Given the description of an element on the screen output the (x, y) to click on. 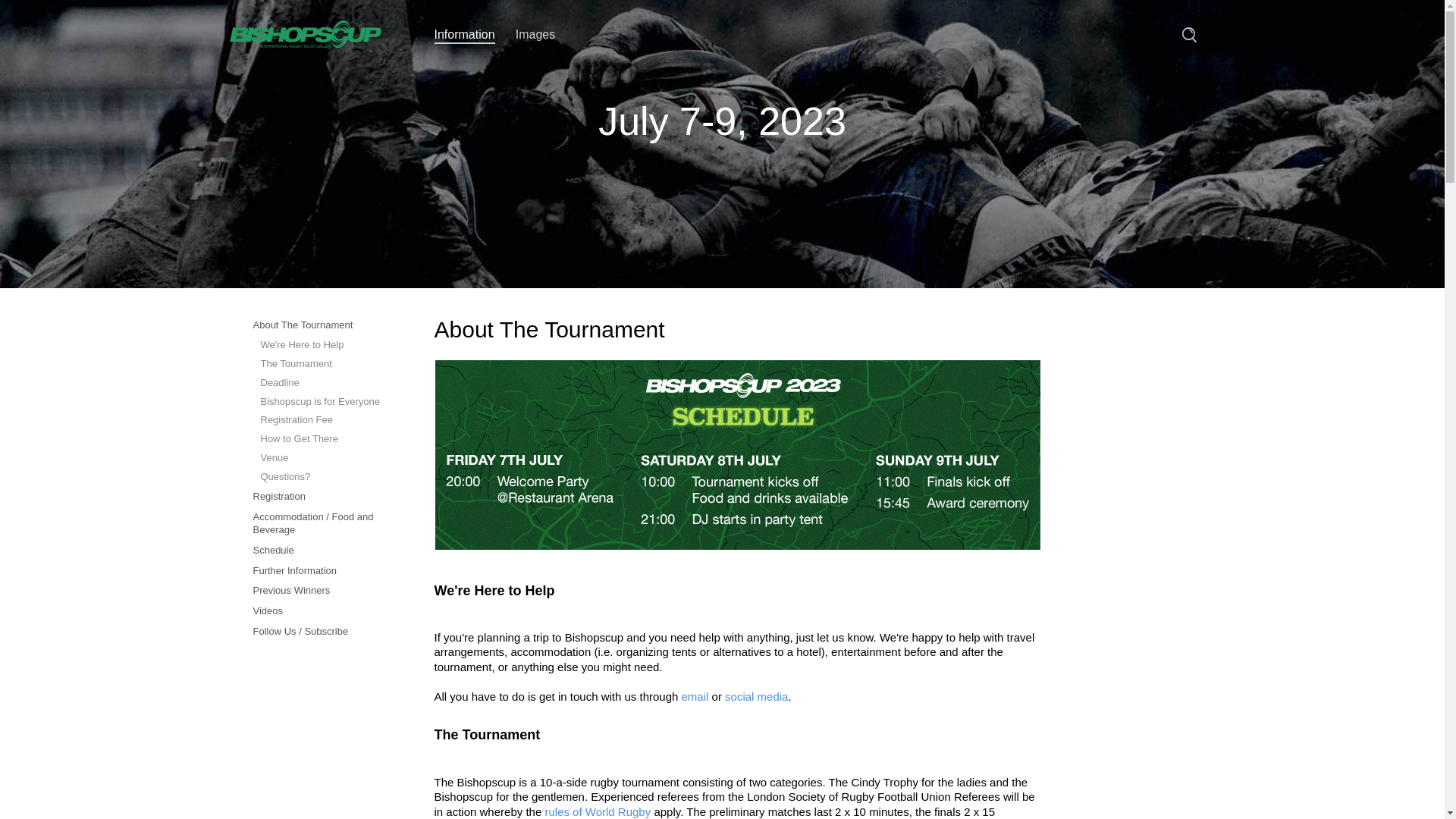
Previous Winners Element type: text (321, 590)
Schedule Element type: text (321, 550)
Accommodation / Food and Beverage Element type: text (321, 523)
The Tournament Element type: text (321, 363)
Information Element type: text (463, 35)
About The Tournament Element type: text (321, 325)
Deadline Element type: text (321, 382)
Further Information Element type: text (321, 571)
Videos Element type: text (321, 611)
social media Element type: text (755, 696)
Venue Element type: text (321, 457)
Follow Us / Subscribe Element type: text (321, 631)
We're Here to Help Element type: text (321, 344)
Registration Element type: text (321, 496)
rules of World Rugby Element type: text (597, 811)
Registration Fee Element type: text (321, 420)
How to Get There Element type: text (321, 438)
email Element type: text (695, 696)
Images Element type: text (535, 35)
Questions? Element type: text (321, 476)
Bishopscup is for Everyone Element type: text (321, 401)
Search Element type: hover (1188, 34)
